Given the description of an element on the screen output the (x, y) to click on. 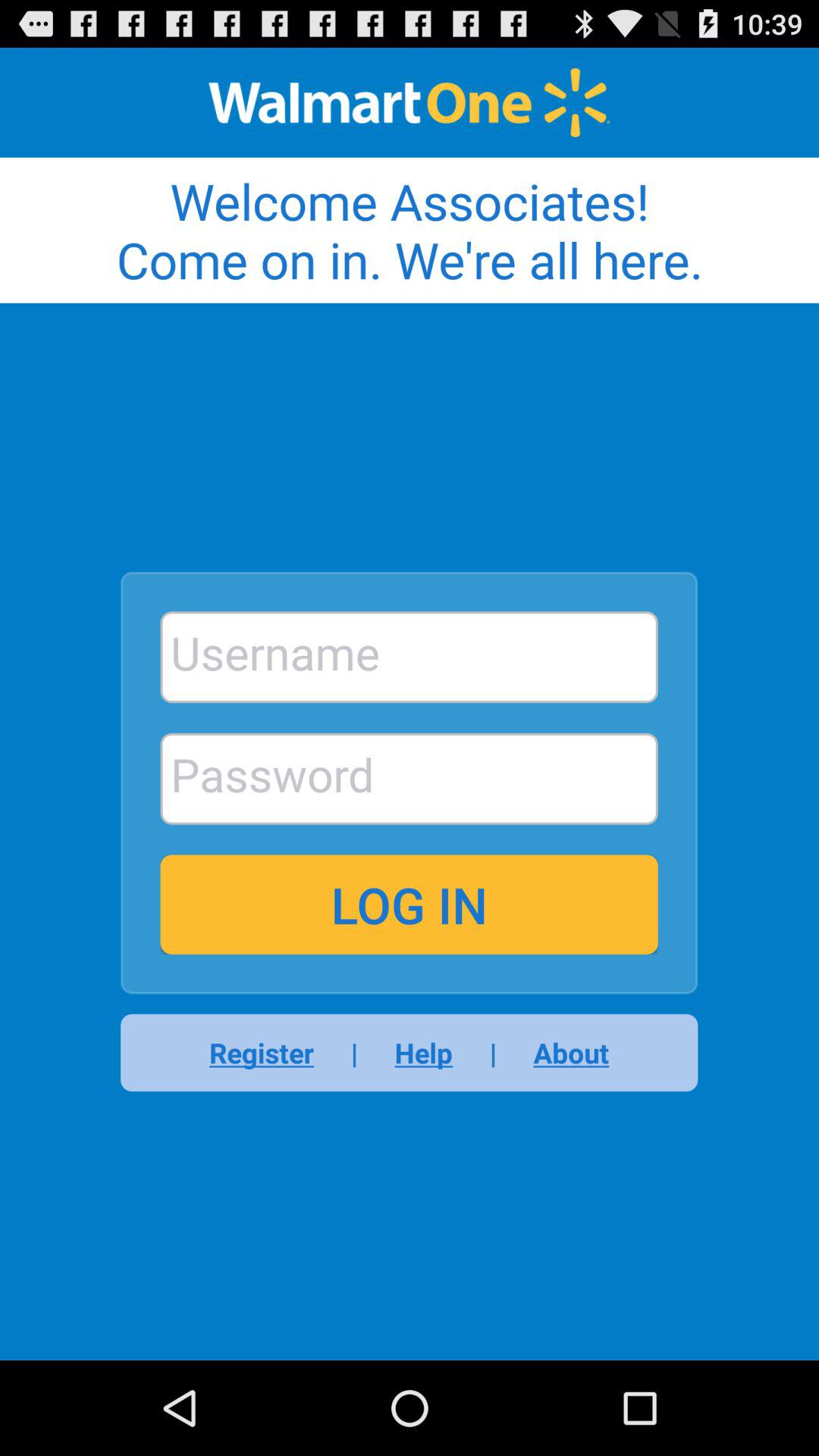
scroll until the log in item (409, 904)
